Given the description of an element on the screen output the (x, y) to click on. 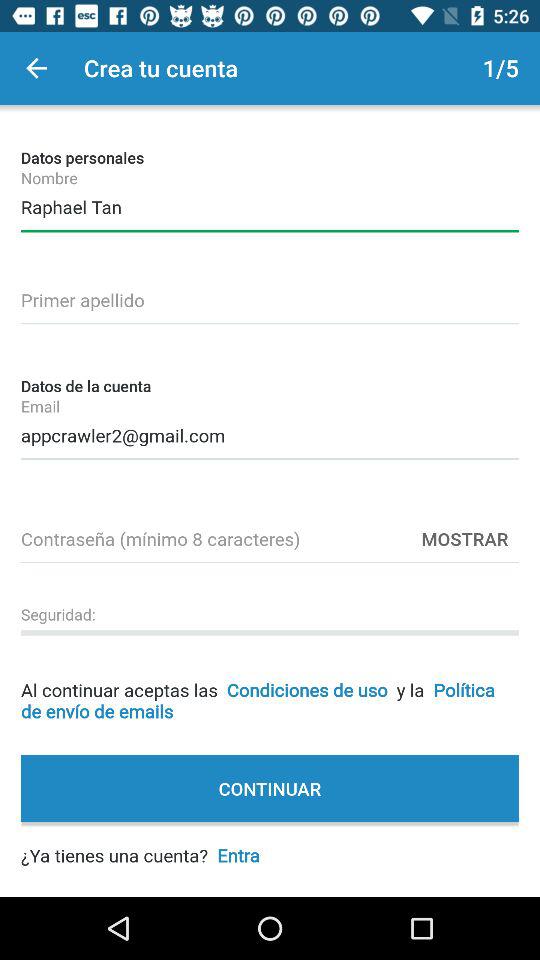
enter last name (270, 297)
